Given the description of an element on the screen output the (x, y) to click on. 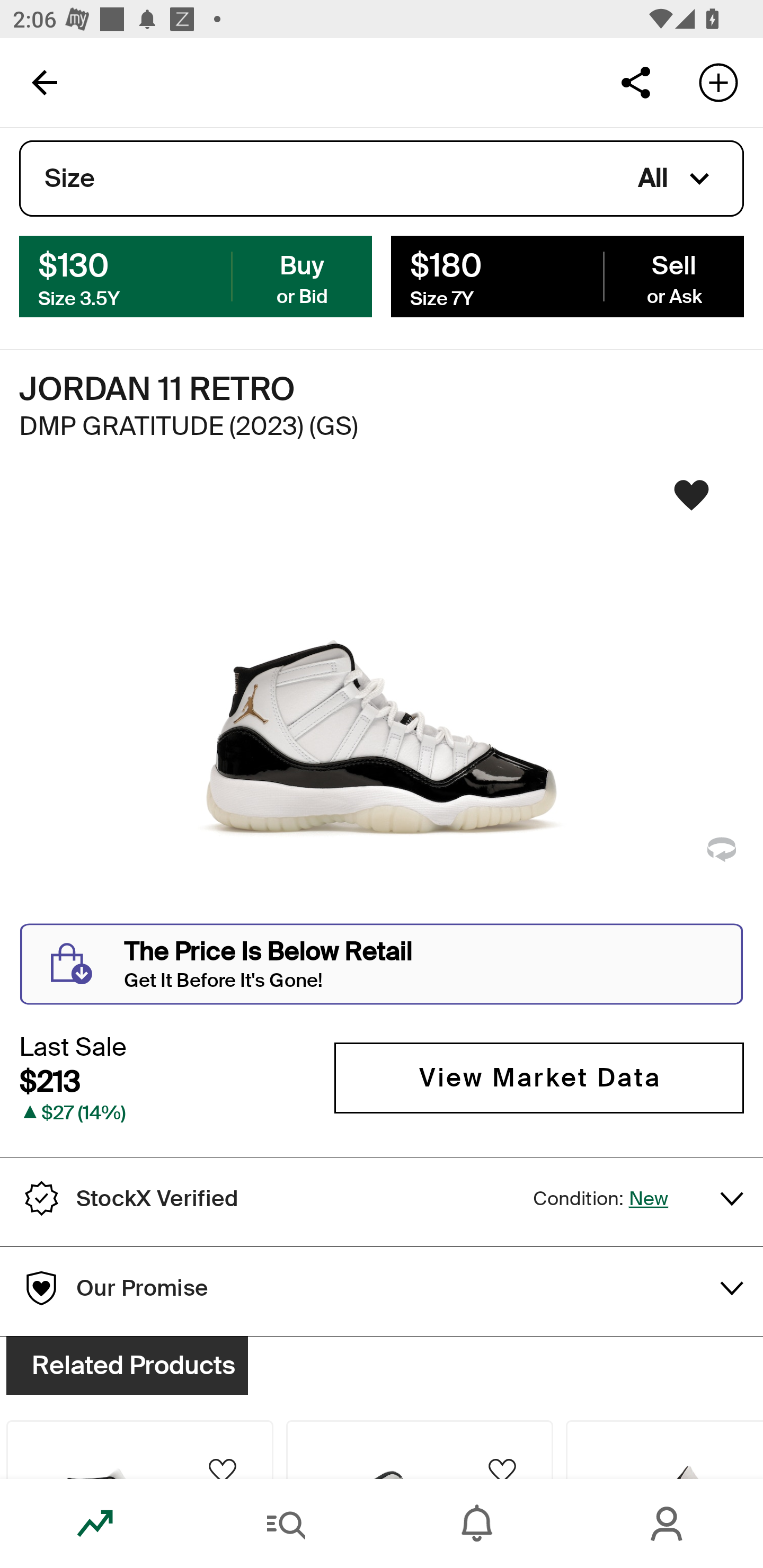
Share (635, 81)
Add (718, 81)
Size All (381, 178)
$130 Buy Size 3.5Y or Bid (195, 275)
$180 Sell Size 7Y or Ask (566, 275)
Sneaker Image (381, 699)
View Market Data (538, 1077)
Search (285, 1523)
Inbox (476, 1523)
Account (667, 1523)
